Given the description of an element on the screen output the (x, y) to click on. 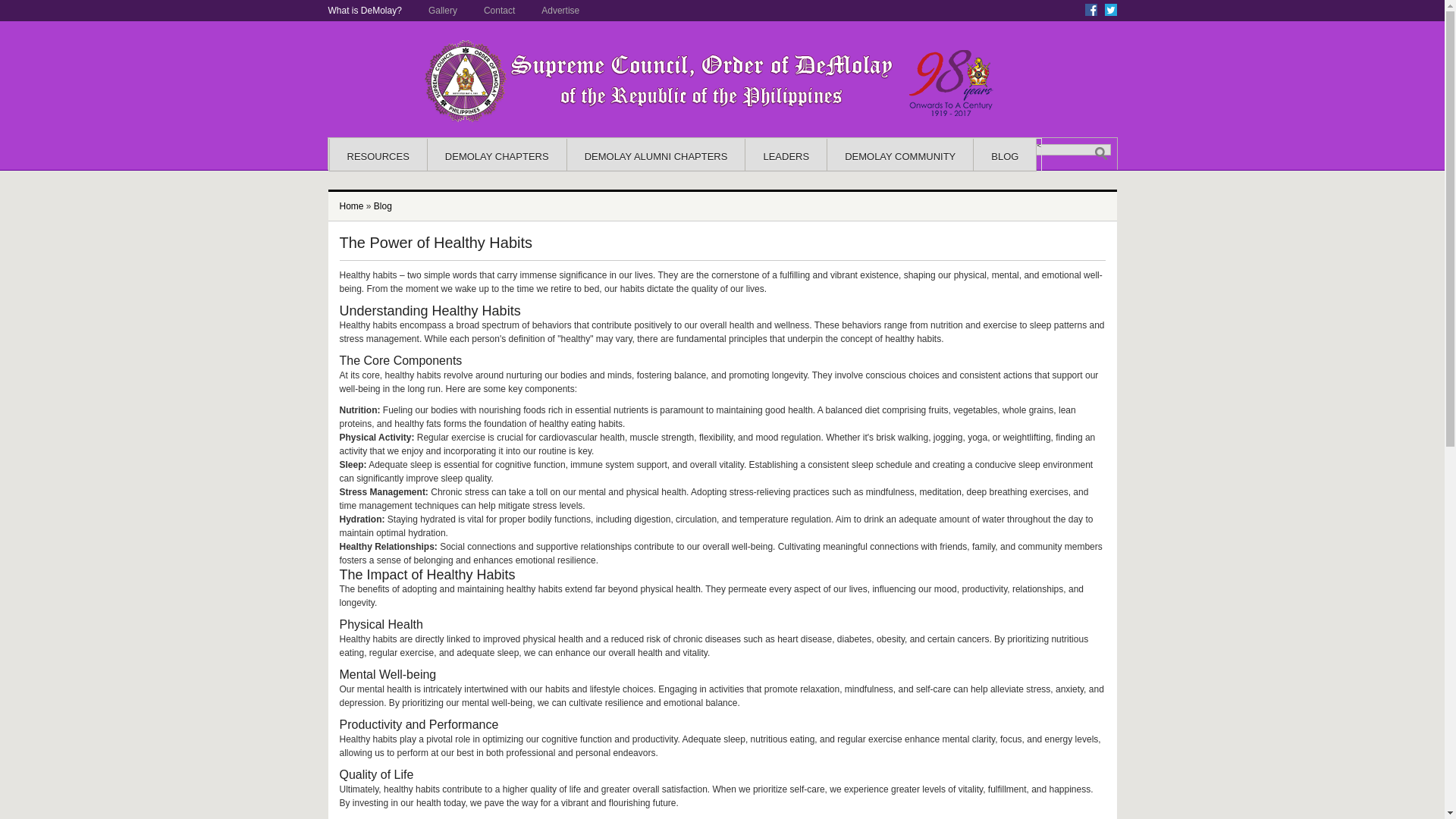
DEMOLAY ALUMNI CHAPTERS (655, 160)
DEMOLAY CHAPTERS (496, 160)
DEMOLAY COMMUNITY (900, 160)
LEADERS (786, 160)
Search (1100, 153)
Gallery (442, 9)
Blog (382, 205)
Search (1100, 153)
Advertise (560, 9)
Search (1021, 149)
